Given the description of an element on the screen output the (x, y) to click on. 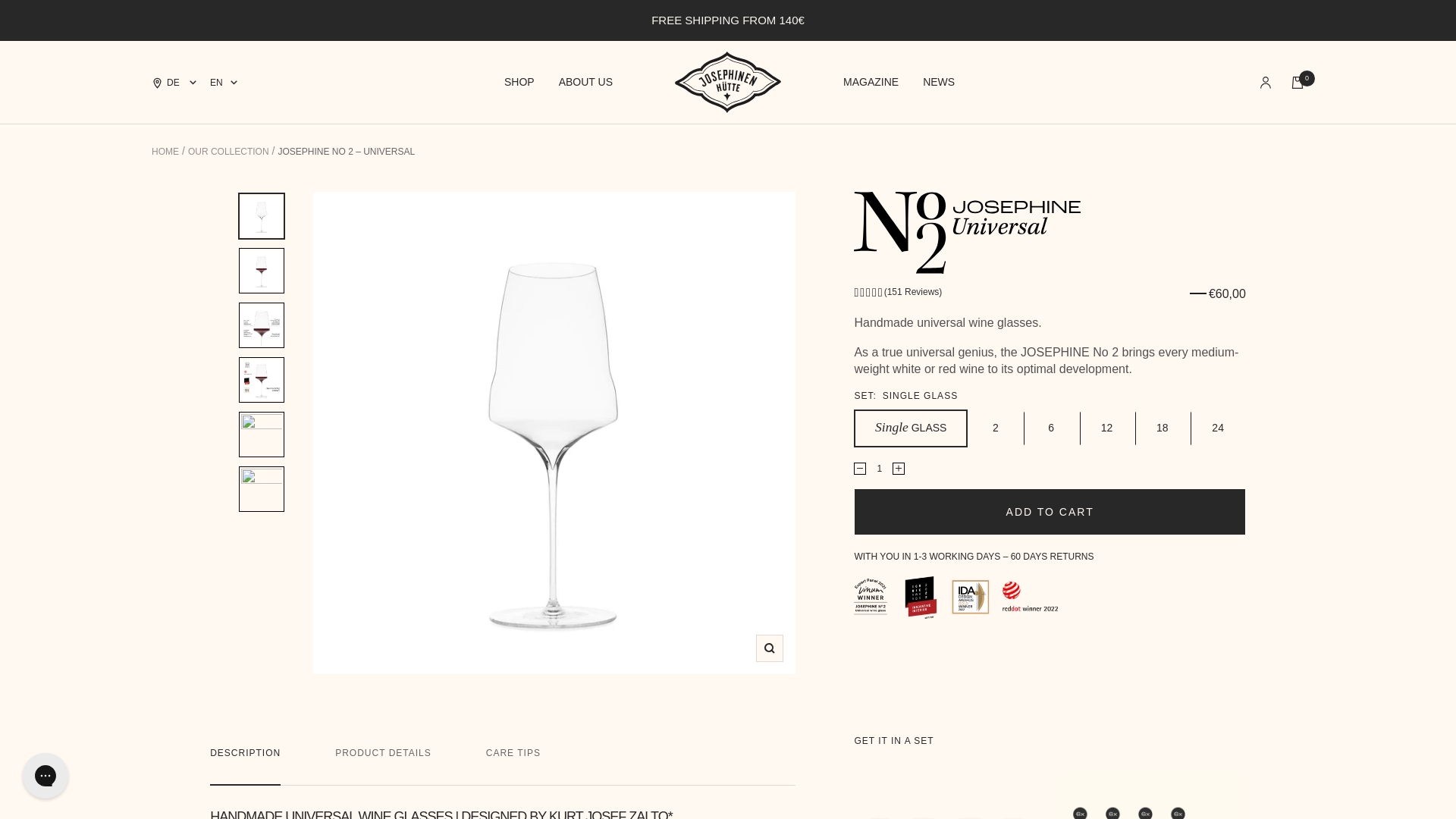
DE (217, 364)
SE (217, 806)
NL (217, 625)
SI (217, 766)
LT (217, 544)
ES (217, 785)
IS (217, 444)
BE (217, 163)
4.86 Stars - 151 Reviews (897, 292)
FI (217, 324)
NO (217, 645)
GI (217, 384)
AT (217, 142)
MT (217, 585)
